Given the description of an element on the screen output the (x, y) to click on. 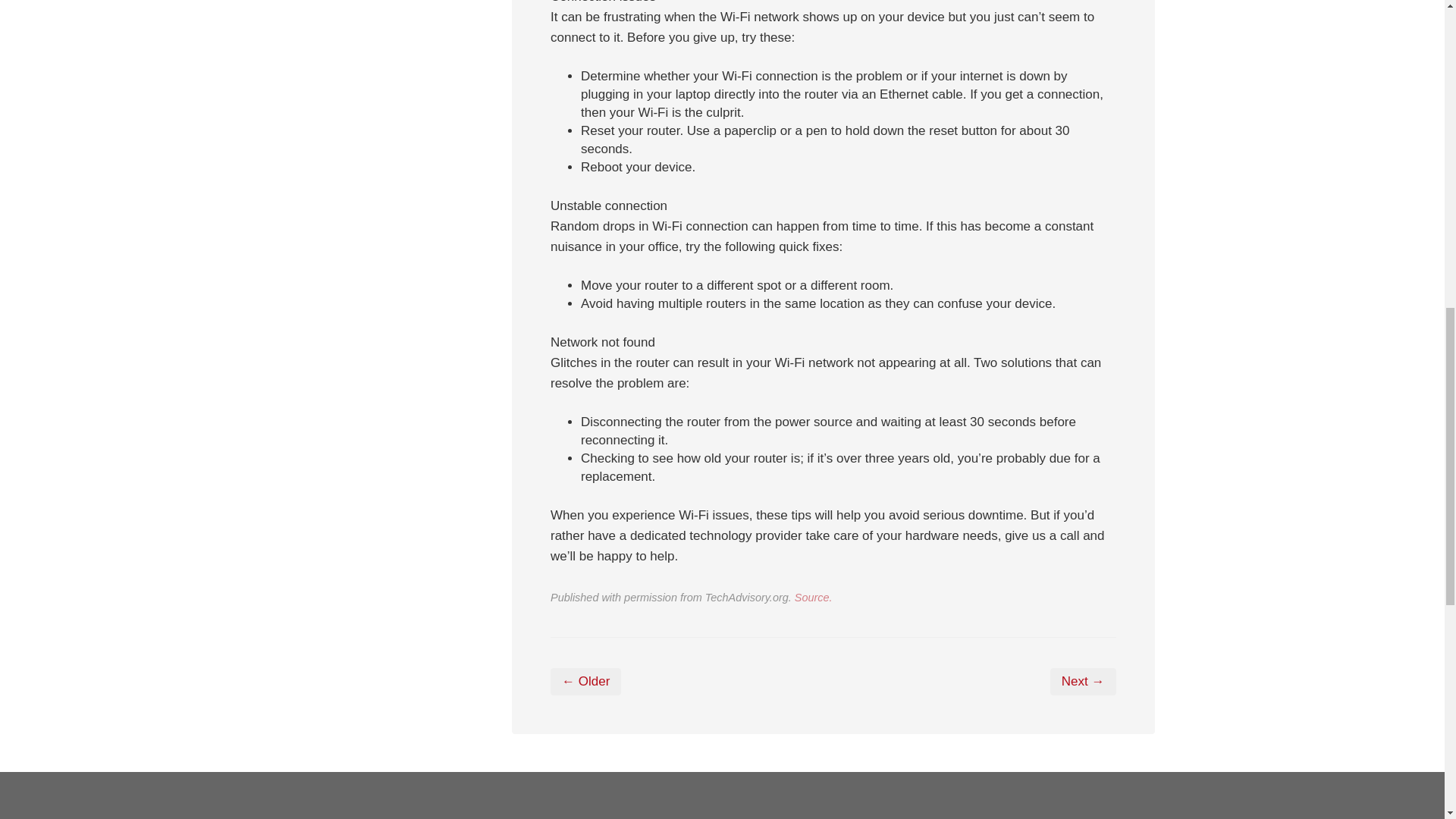
Source. (813, 597)
